Given the description of an element on the screen output the (x, y) to click on. 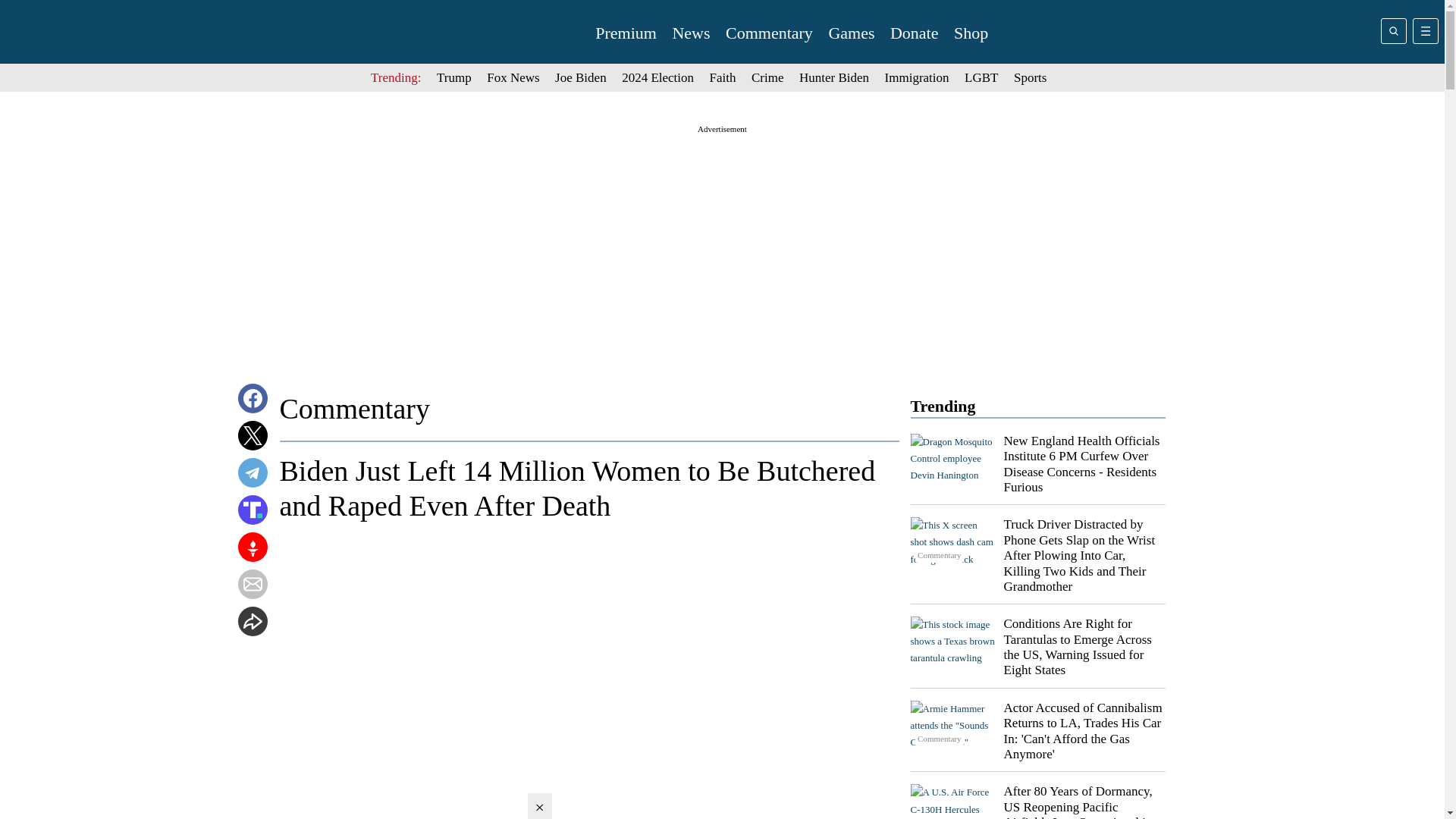
News (690, 32)
Commentary (952, 726)
Commentary (952, 541)
Immigration (917, 77)
Commentary (768, 32)
Fox News (512, 77)
Crime (767, 77)
Commentary (952, 801)
